Given the description of an element on the screen output the (x, y) to click on. 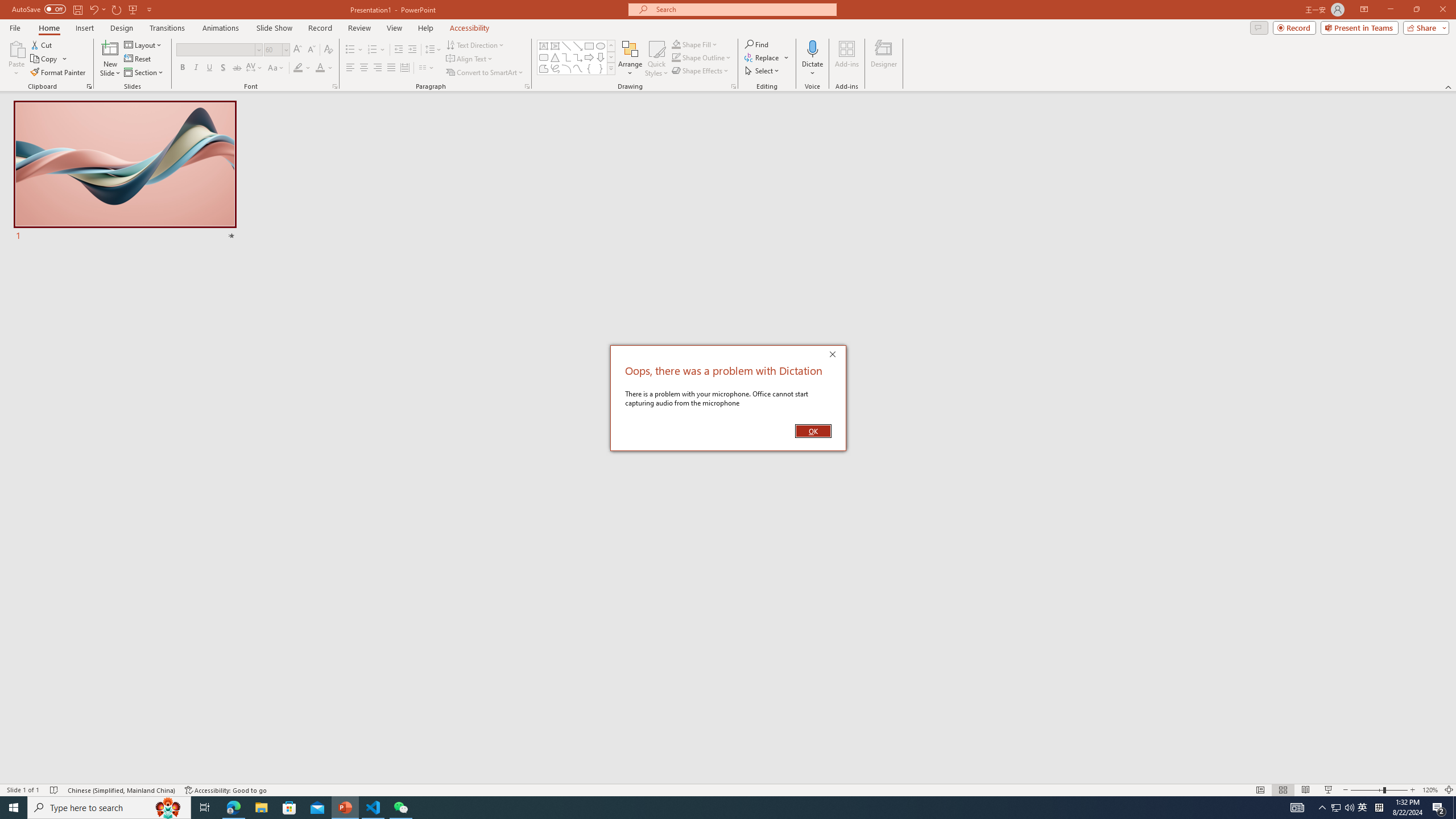
Increase Indent (412, 49)
Distributed (404, 67)
Text Direction (476, 44)
Paragraph... (526, 85)
Visual Studio Code - 1 running window (373, 807)
